Given the description of an element on the screen output the (x, y) to click on. 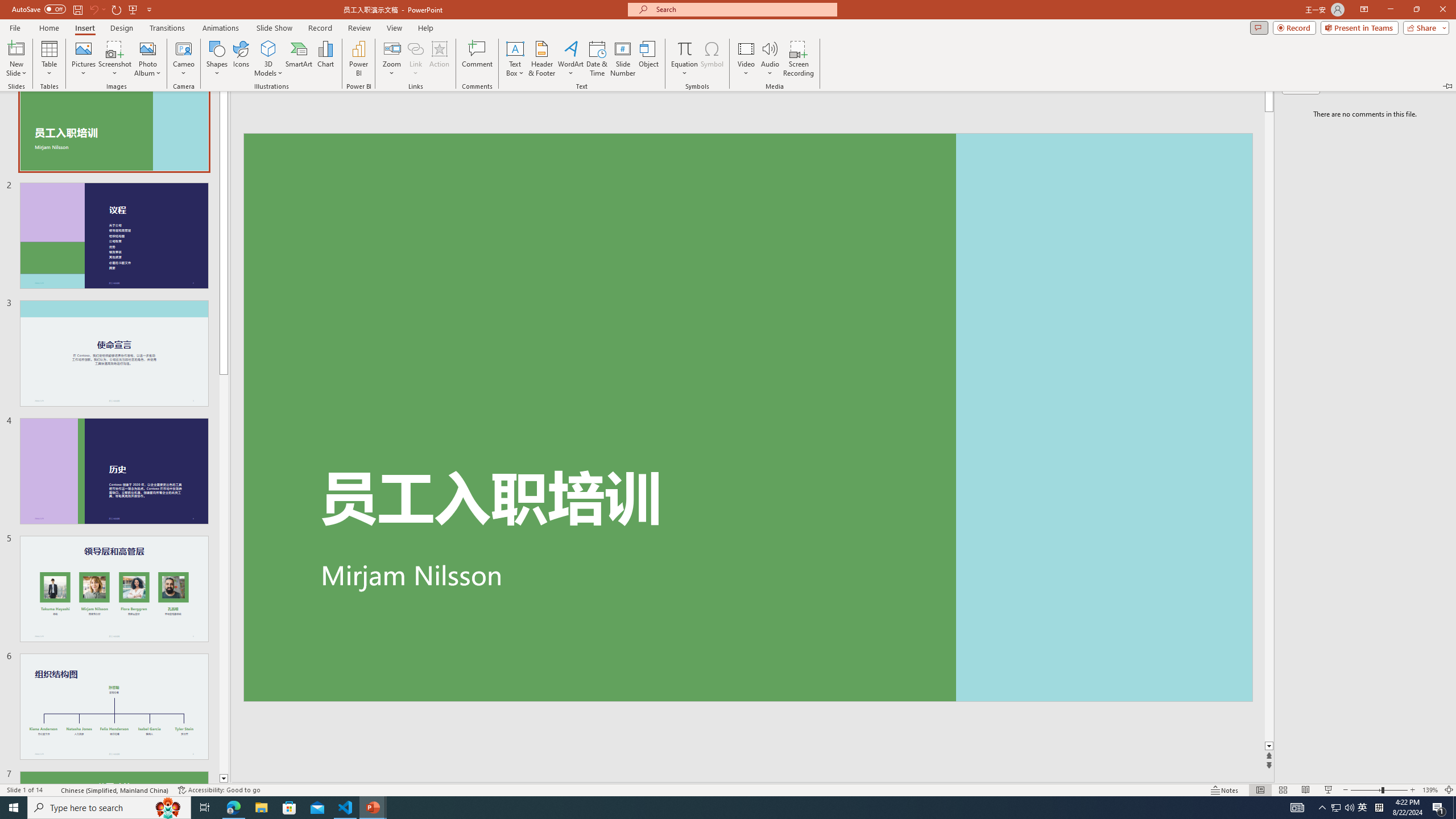
Tray Input Indicator - Chinese (Simplified, China) (1378, 807)
Start (13, 807)
Task View (204, 807)
